Given the description of an element on the screen output the (x, y) to click on. 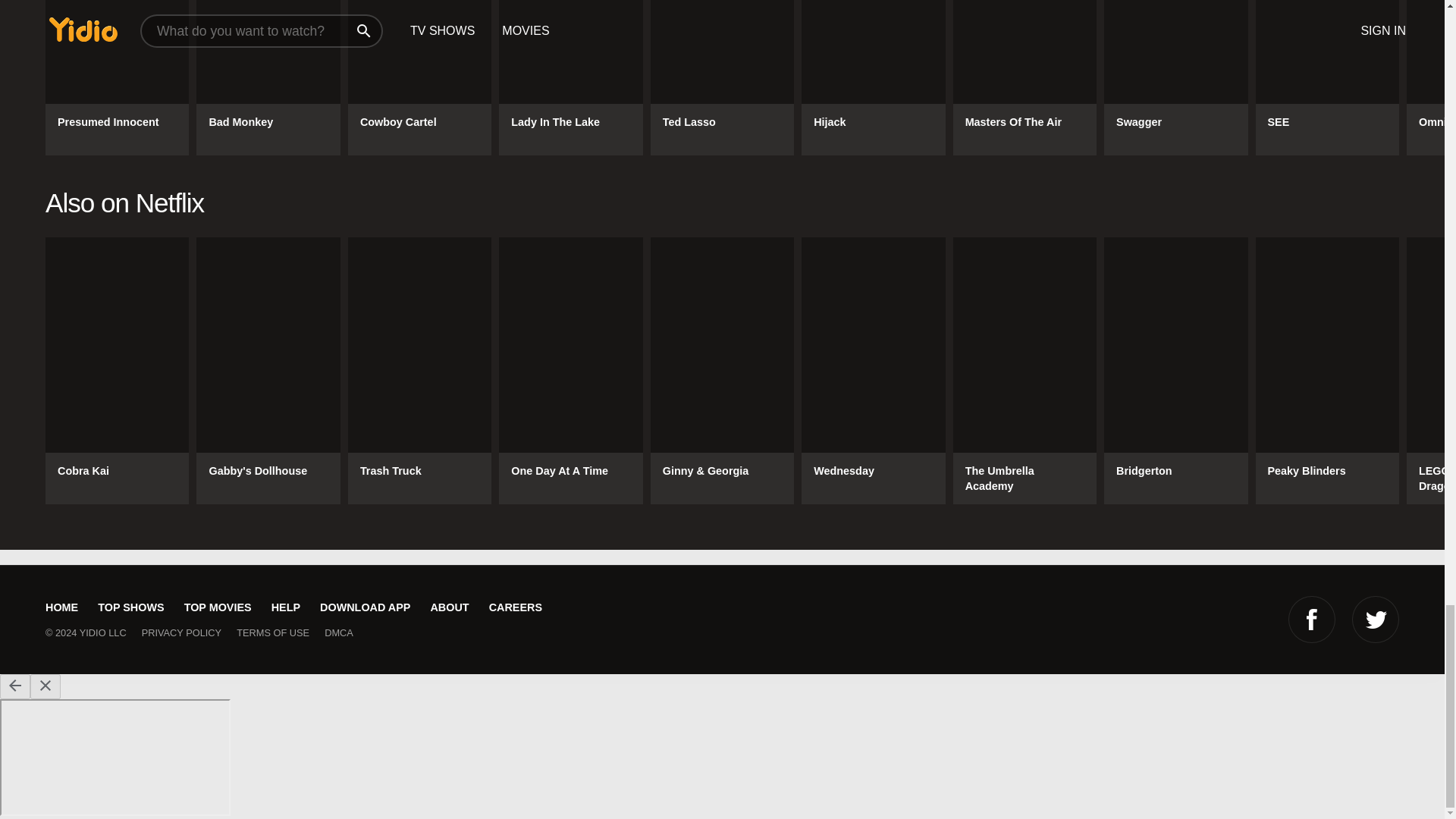
Ted Lasso (721, 77)
Cowboy Cartel (419, 77)
Swagger (1175, 77)
Presumed Innocent (117, 77)
Hijack (873, 77)
Bad Monkey (267, 77)
Lady In The Lake (570, 77)
Masters Of The Air (1024, 77)
